Given the description of an element on the screen output the (x, y) to click on. 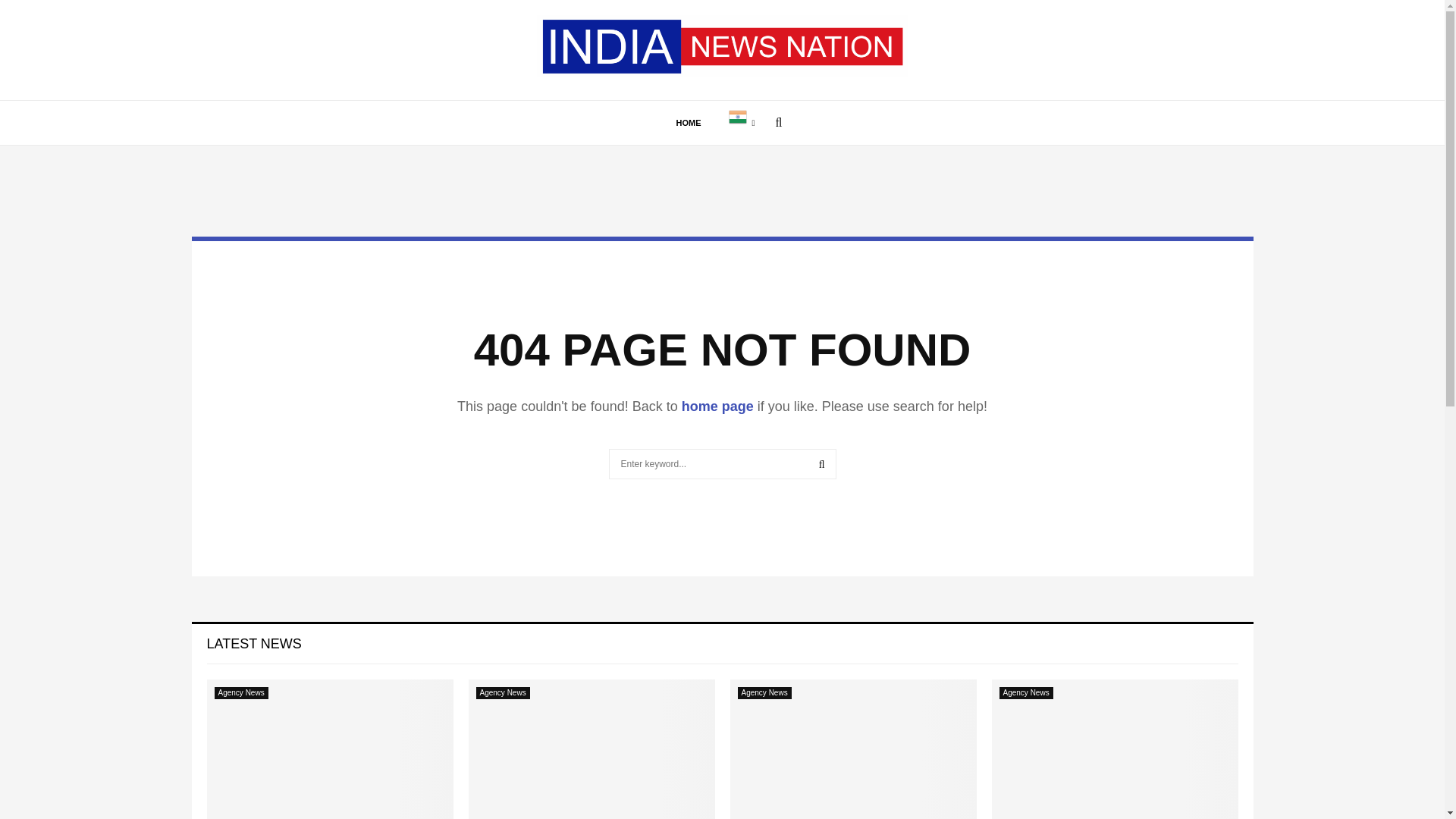
View all posts in Agency News (502, 693)
LATEST NEWS (253, 643)
Agency News (1025, 693)
home page (717, 406)
SEARCH (821, 463)
View all posts in Agency News (763, 693)
Agency News (763, 693)
HOME (688, 122)
View all posts in Agency News (240, 693)
Best Life Insurance Policies In Our Family by indiasevak.com (329, 749)
Agency News (240, 693)
Latest News (253, 643)
View all posts in Agency News (1025, 693)
Agency News (502, 693)
